Given the description of an element on the screen output the (x, y) to click on. 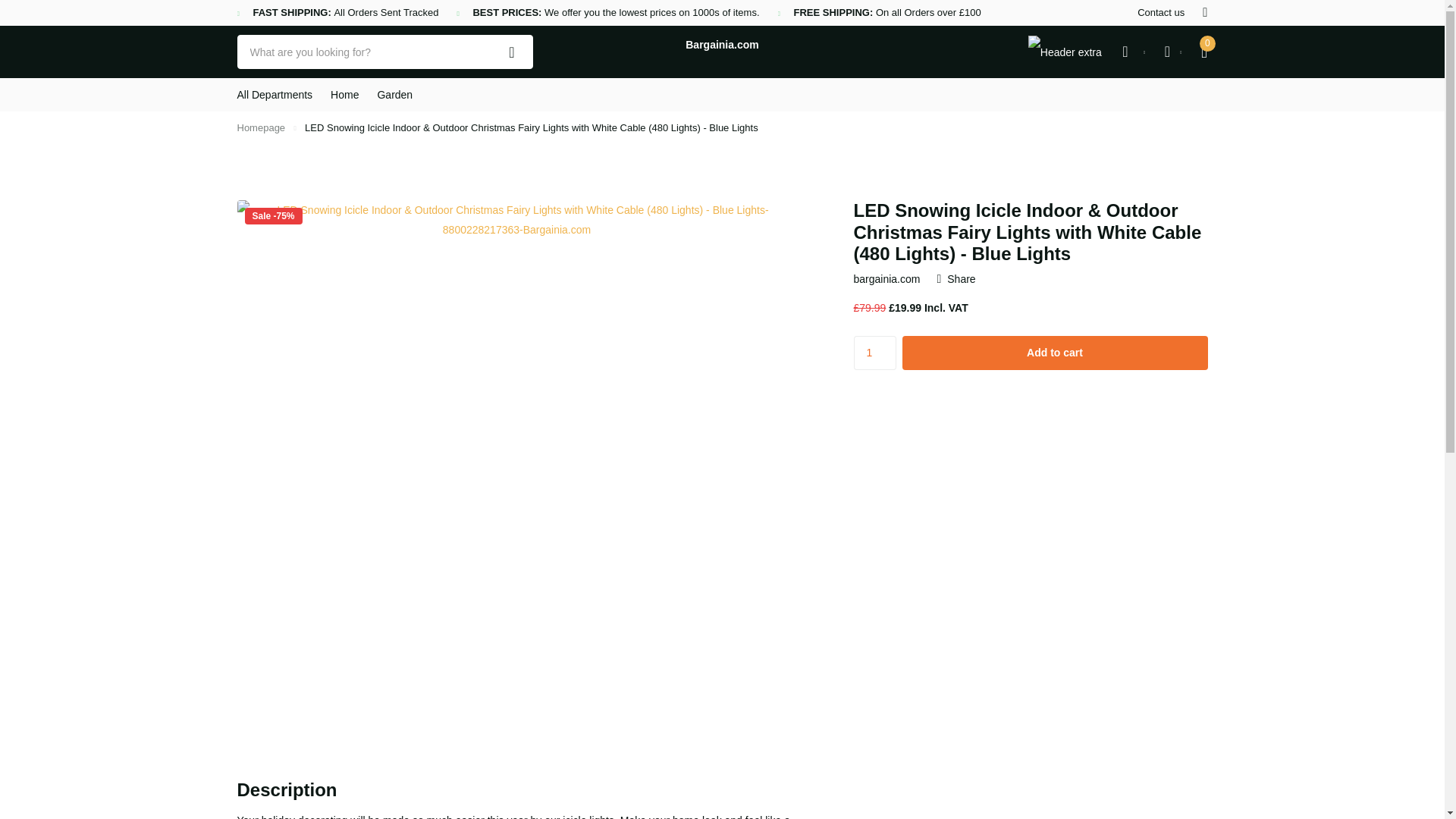
Garden (394, 94)
Contact us (1161, 12)
Home (260, 127)
Zoeken (512, 51)
All Departments (274, 94)
1 (874, 352)
